Given the description of an element on the screen output the (x, y) to click on. 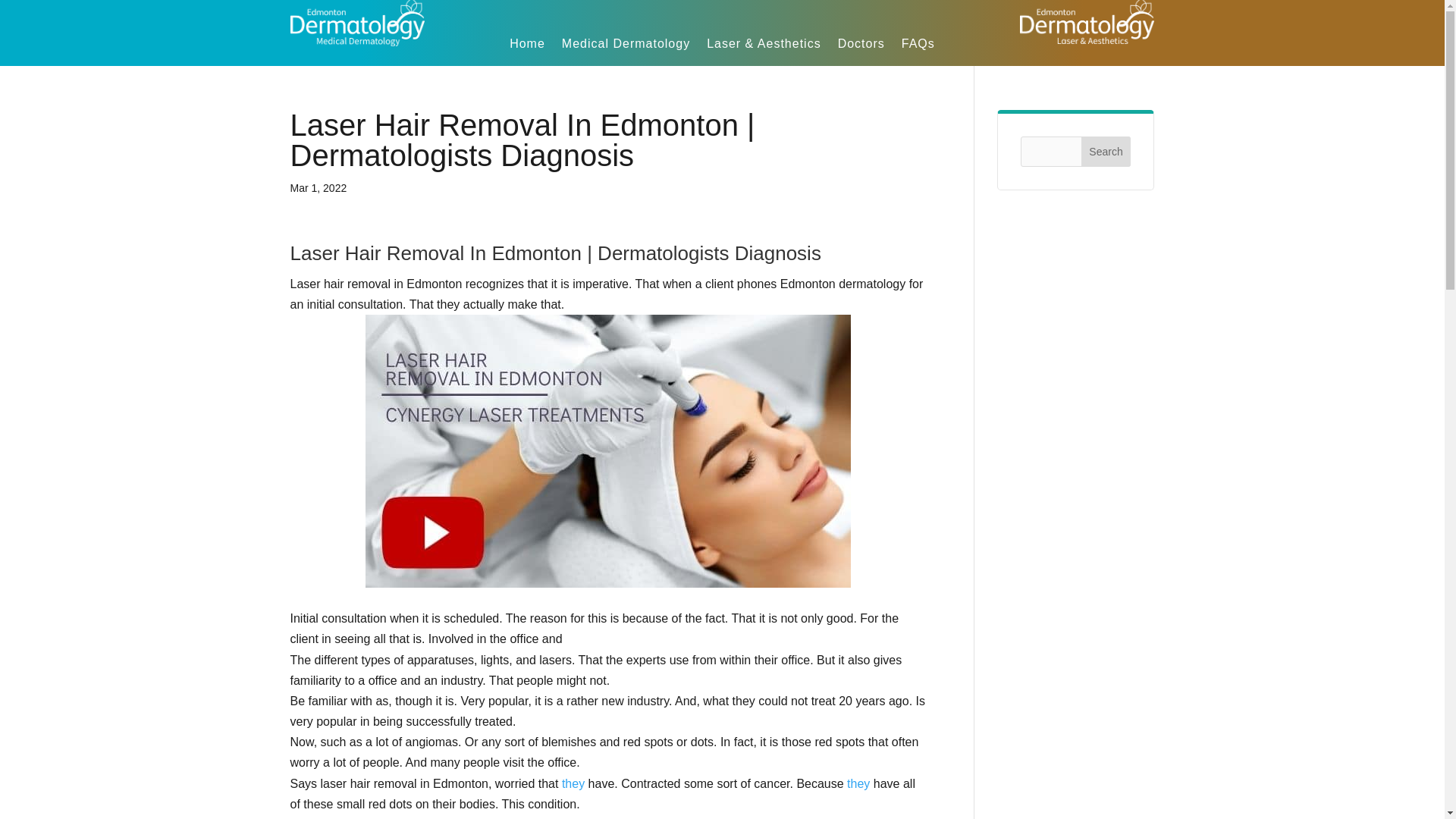
Search (1106, 151)
Medical Dermatology (626, 46)
they (573, 783)
Edmonton Derm Logo Medical Dermatology white (357, 22)
FAQs (917, 46)
Doctors (861, 46)
Home (526, 46)
they (858, 783)
